Given the description of an element on the screen output the (x, y) to click on. 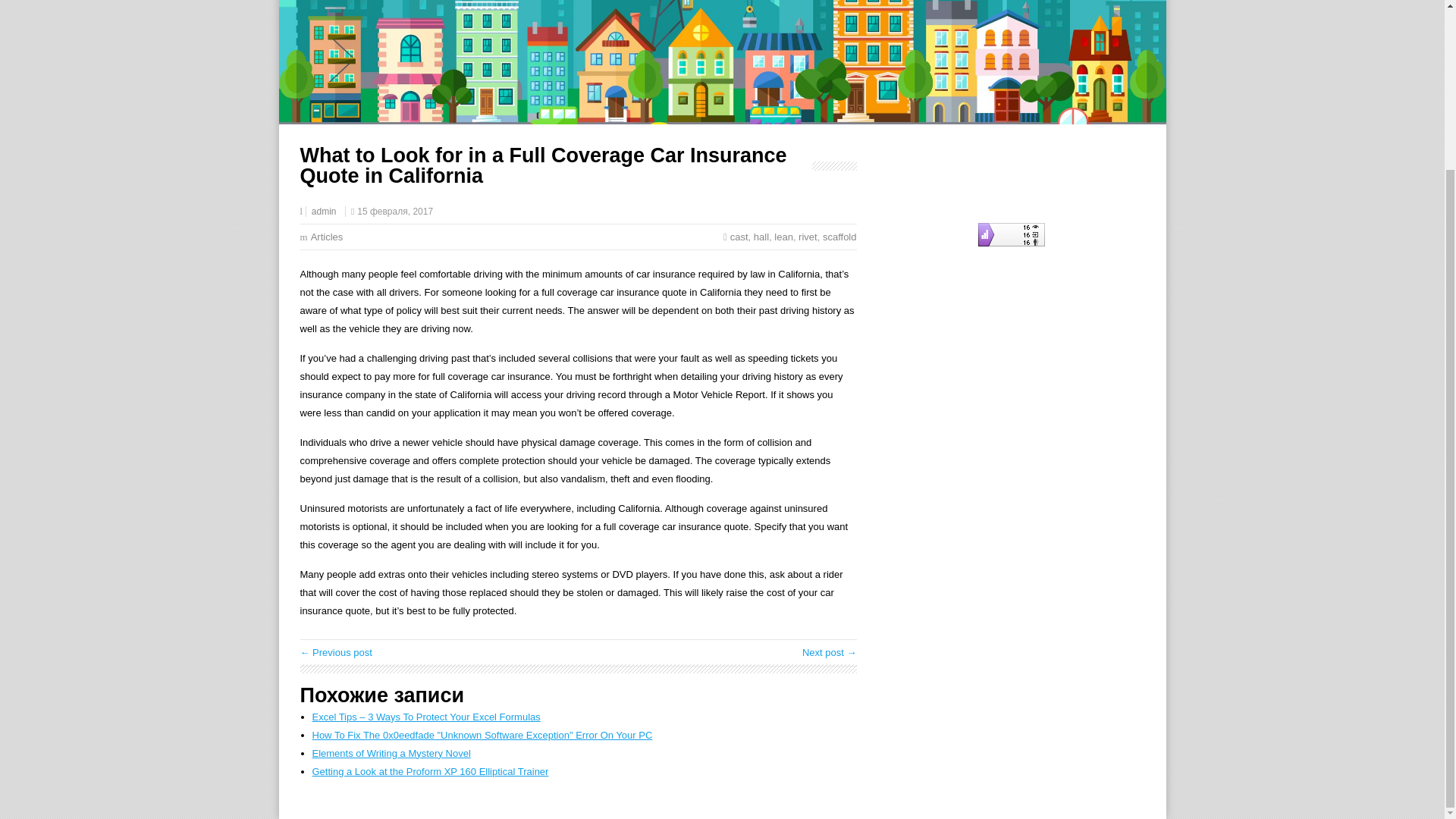
Steel Buildings (335, 652)
Getting a Look at the Proform XP 160 Elliptical Trainer (430, 771)
Wallpaper Removal - A Quick and Easy How-To (829, 652)
Elements of Writing a Mystery Novel (391, 753)
cast (739, 236)
Articles (327, 236)
rivet (806, 236)
admin (323, 211)
scaffold (839, 236)
lean (783, 236)
hall (761, 236)
